Given the description of an element on the screen output the (x, y) to click on. 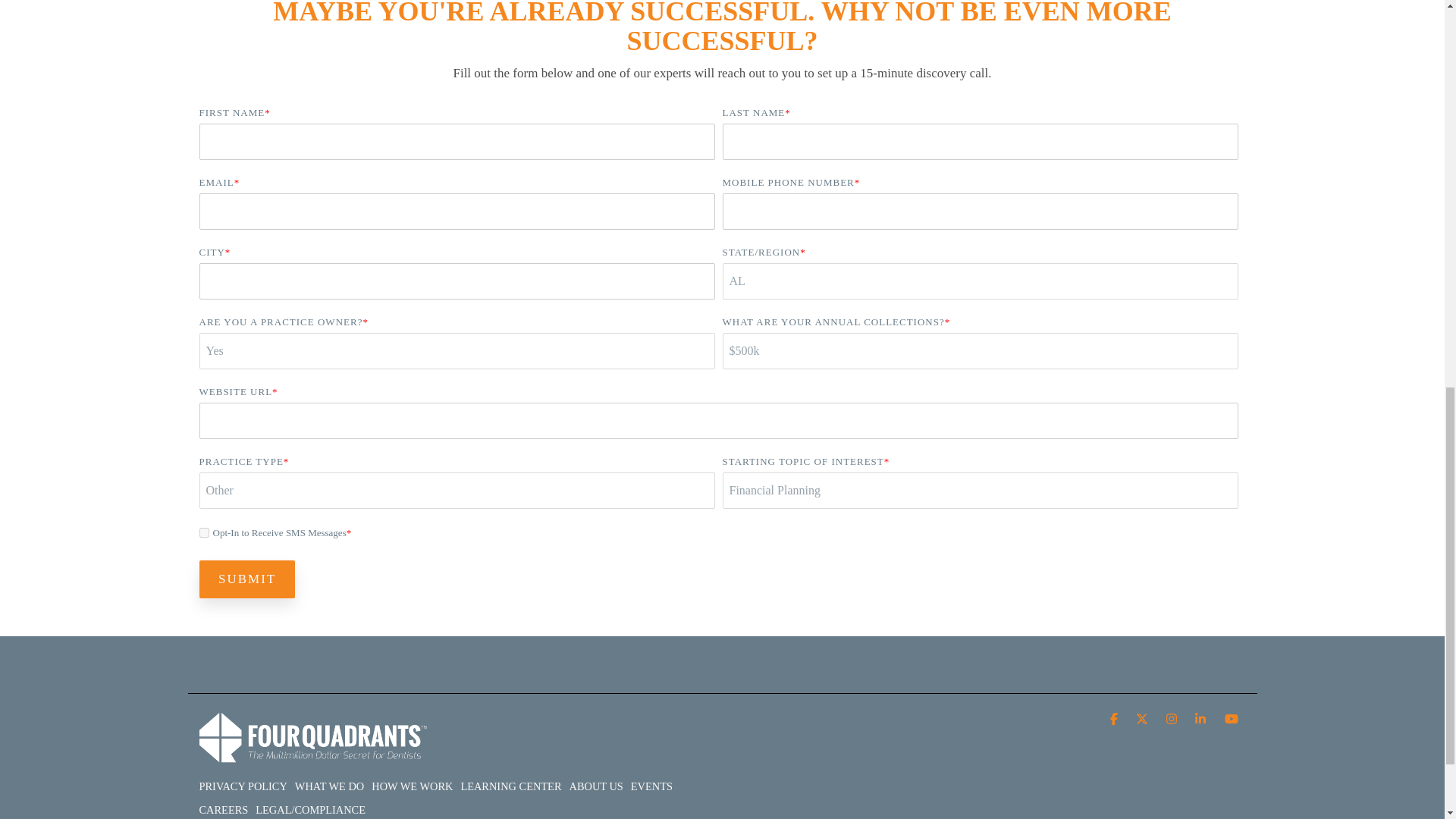
Submit (246, 579)
true (203, 532)
